Given the description of an element on the screen output the (x, y) to click on. 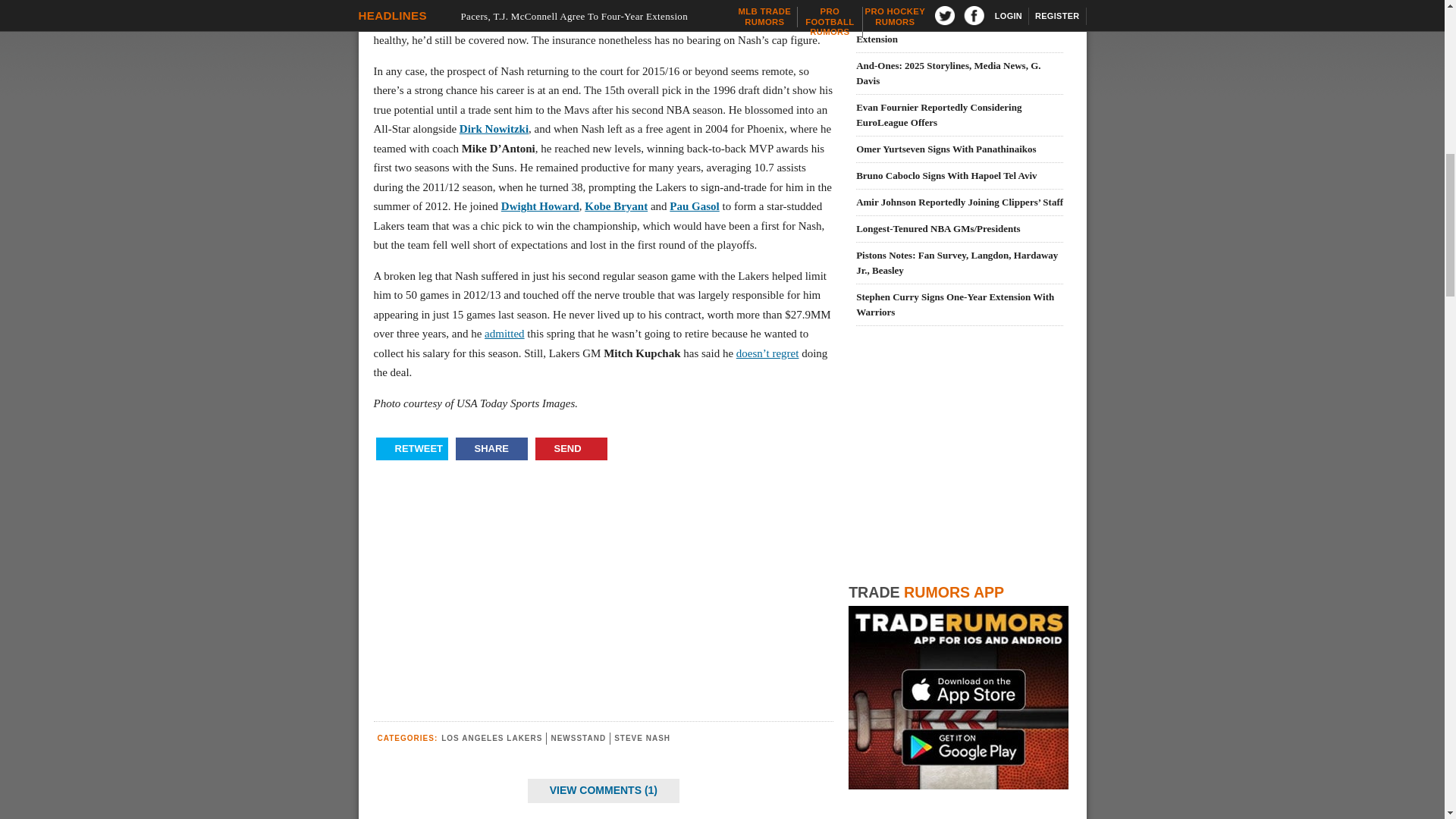
Retweet 'Steve Nash To Miss Entire Season' on Twitter (411, 448)
Share 'Steve Nash To Miss Entire Season' on Facebook (490, 448)
Send Steve Nash To Miss Entire Season with an email (571, 448)
View all posts in Los Angeles Lakers (491, 737)
View all posts in Newsstand (577, 737)
View all posts in Steve Nash (641, 737)
